Given the description of an element on the screen output the (x, y) to click on. 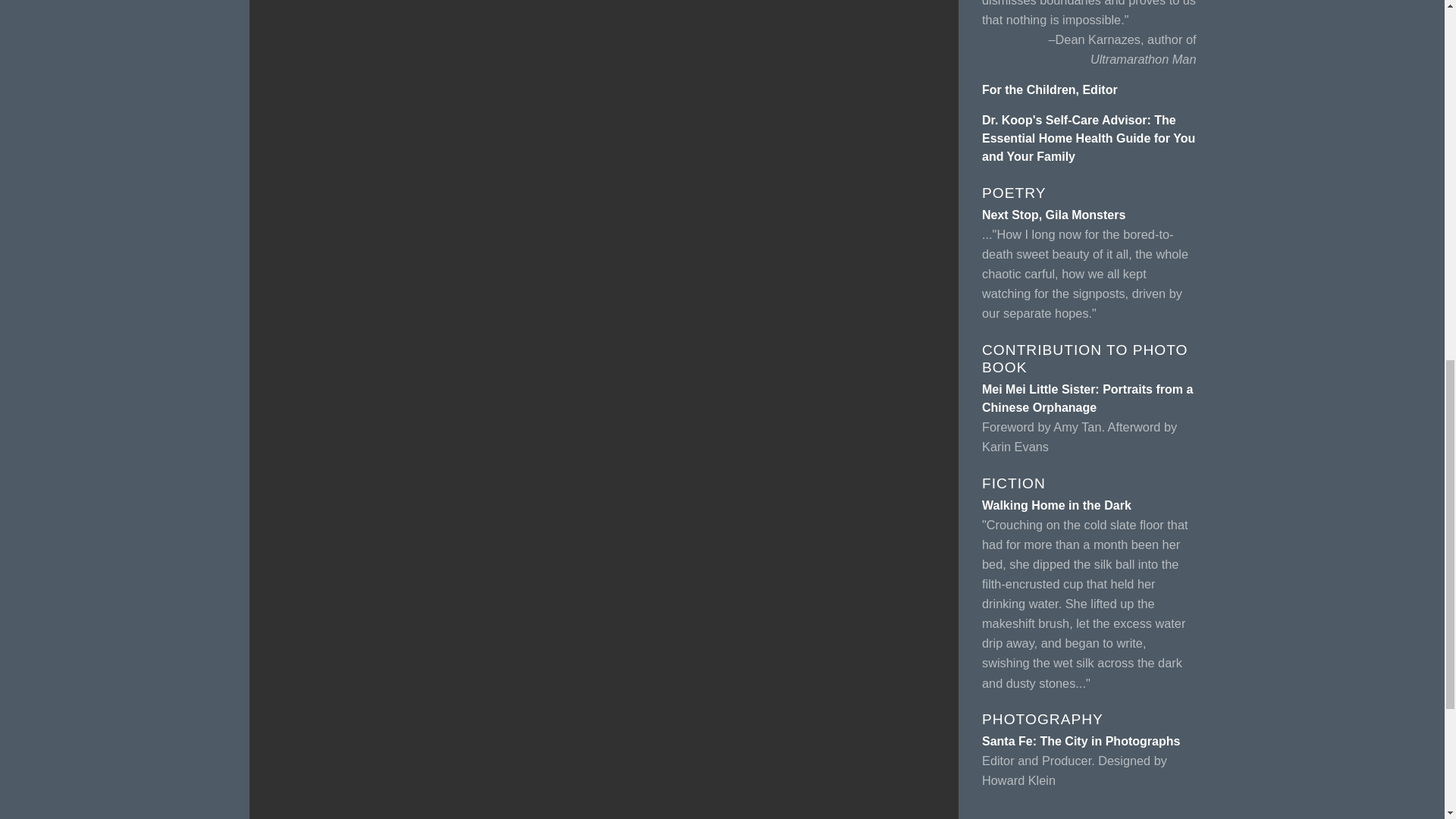
Mei Mei Little Sister: Portraits from a Chinese Orphanage (1086, 398)
Santa Fe: The City in Photographs (1080, 740)
Next Stop, Gila Monsters (1053, 214)
Walking Home in the Dark (1056, 504)
For the Children, Editor (1049, 89)
